Given the description of an element on the screen output the (x, y) to click on. 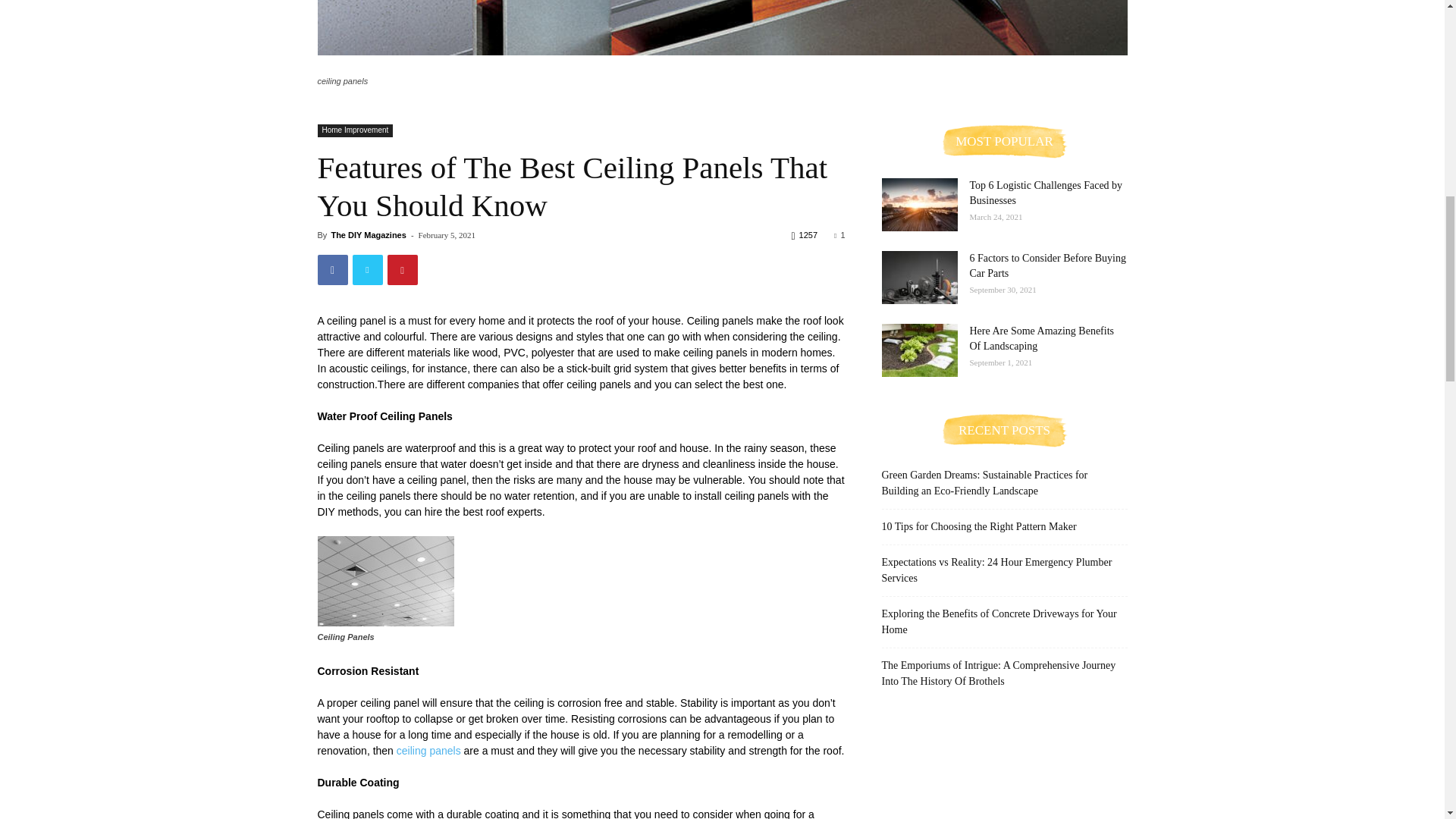
ceiling panels (721, 27)
